Given the description of an element on the screen output the (x, y) to click on. 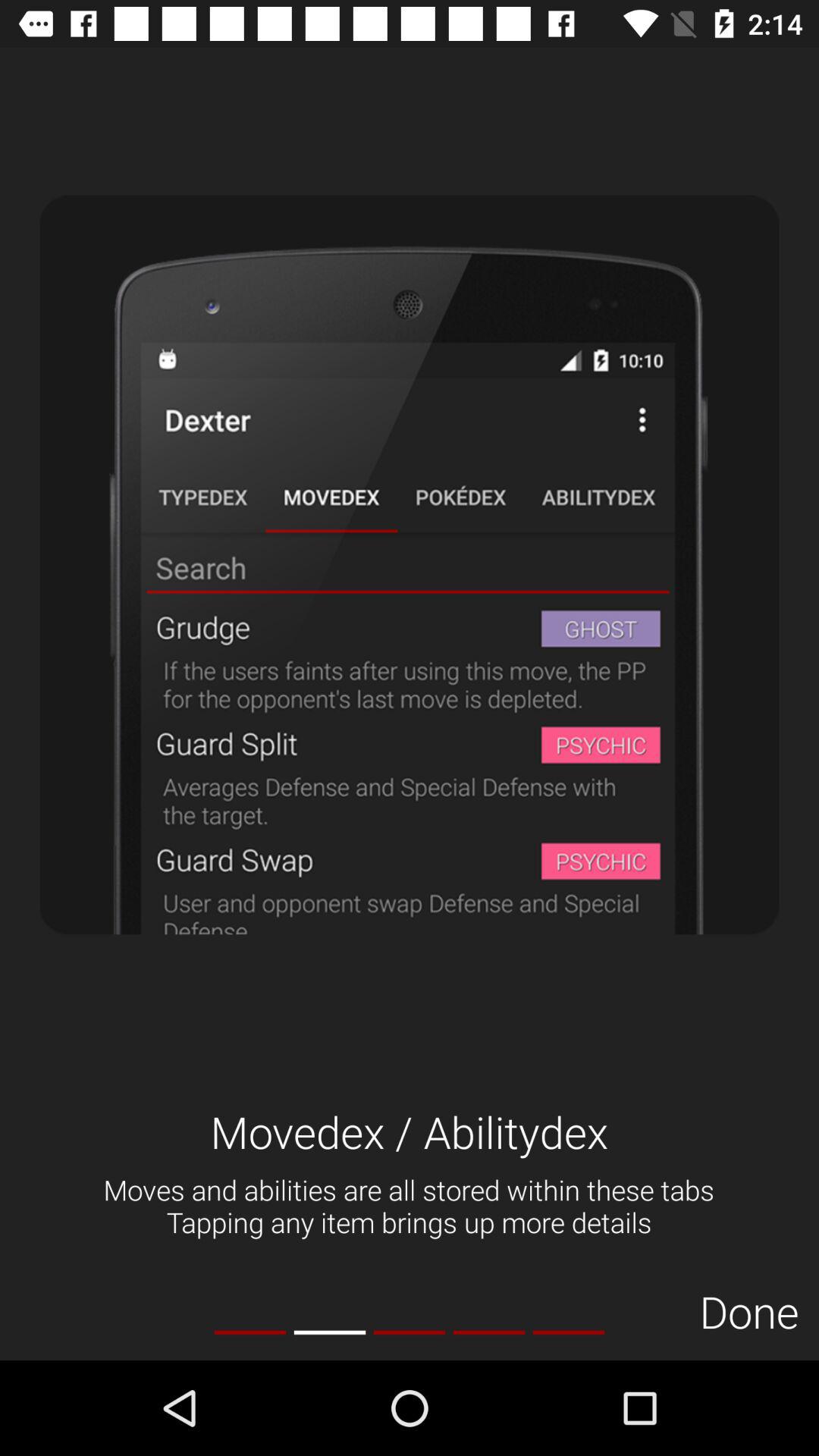
open the icon at the bottom left corner (250, 1332)
